Given the description of an element on the screen output the (x, y) to click on. 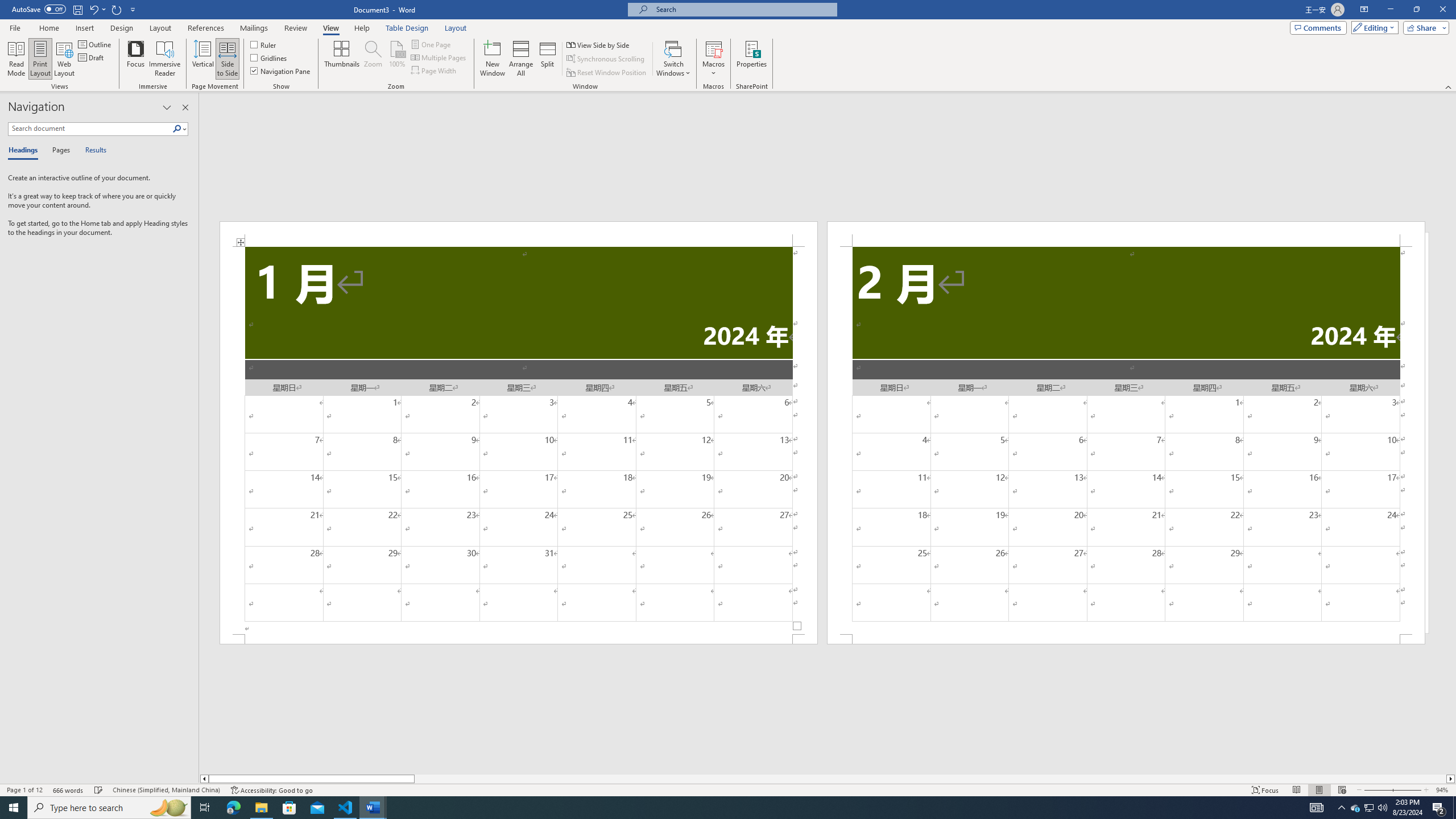
Page Width (434, 69)
Macros (713, 58)
Vertical (202, 58)
Outline (95, 44)
Zoom... (372, 58)
Page Number Page 1 of 12 (24, 790)
Reset Window Position (606, 72)
Page right (929, 778)
Thumbnails (342, 58)
